Given the description of an element on the screen output the (x, y) to click on. 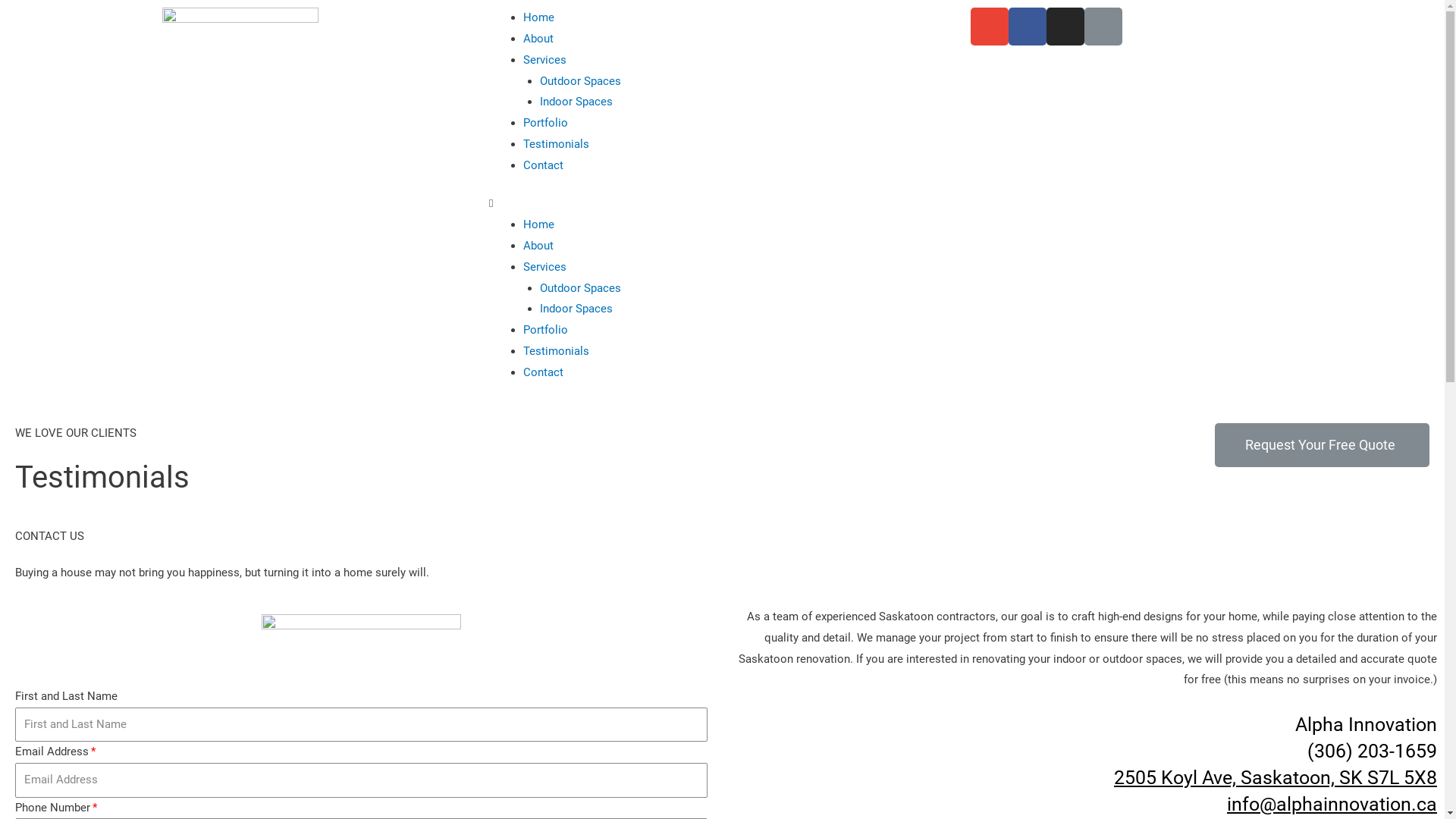
Services Element type: text (544, 59)
Alpha Innovation Element type: text (1366, 723)
Request Your Free Quote Element type: text (1321, 445)
Outdoor Spaces Element type: text (580, 287)
About Element type: text (538, 38)
2505 Koyl Ave, Saskatoon, SK S7L 5X8 Element type: text (1275, 776)
Outdoor Spaces Element type: text (580, 80)
About Element type: text (538, 245)
Portfolio Element type: text (545, 122)
Testimonials Element type: text (556, 143)
Testimonials Element type: text (556, 350)
Portfolio Element type: text (545, 329)
(306) 203-1659 Element type: text (1372, 751)
Home Element type: text (538, 17)
Services Element type: text (544, 266)
Indoor Spaces Element type: text (575, 308)
Contact Element type: text (543, 165)
info@alphainnovation.ca Element type: text (1331, 804)
Indoor Spaces Element type: text (575, 101)
Home Element type: text (538, 224)
Contact Element type: text (543, 372)
